Given the description of an element on the screen output the (x, y) to click on. 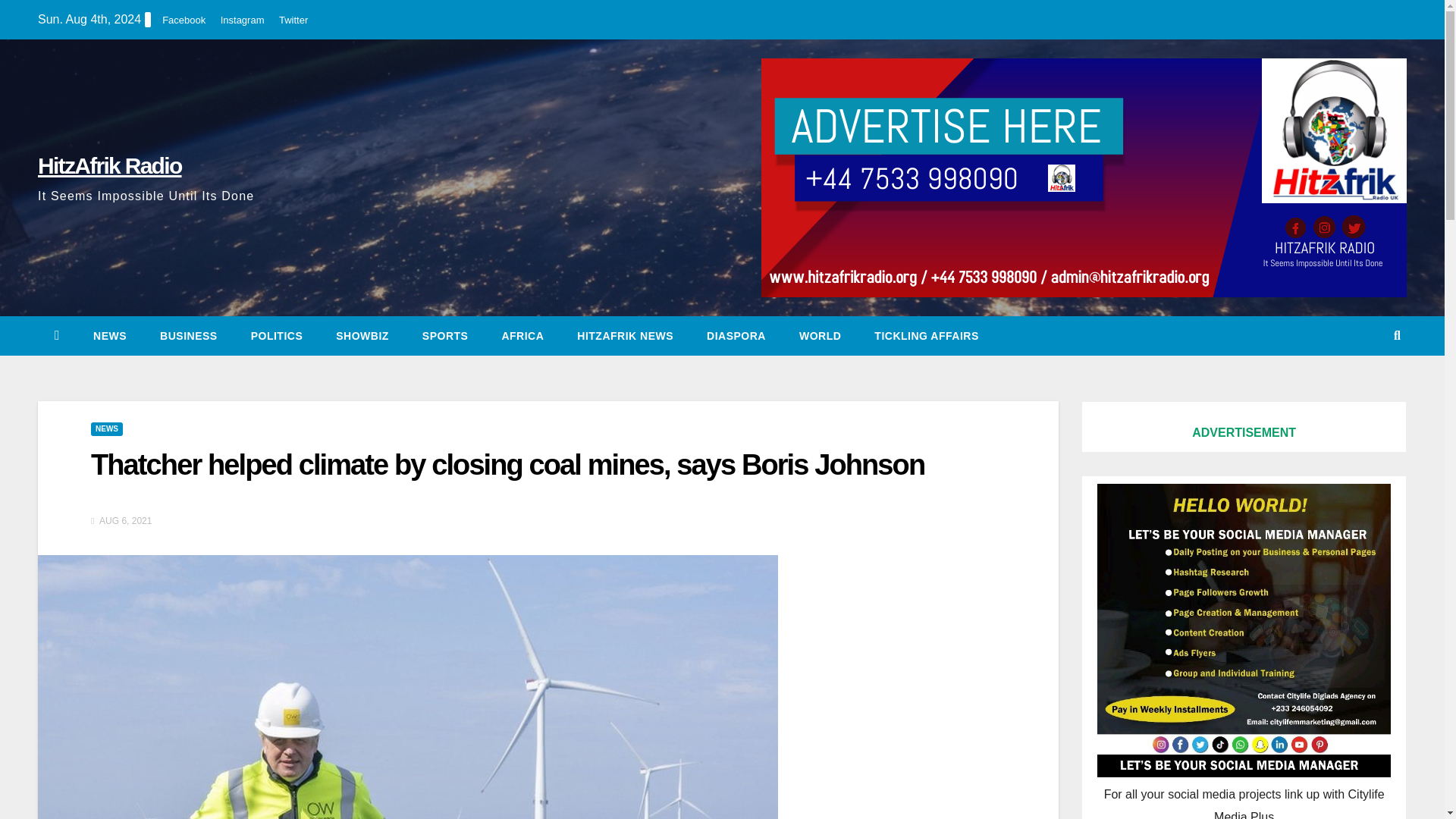
Africa (522, 335)
News (109, 335)
BUSINESS (188, 335)
Politics (277, 335)
AFRICA (522, 335)
HitzAfrik News (625, 335)
Facebook (183, 19)
Business (188, 335)
POLITICS (277, 335)
World (820, 335)
